Given the description of an element on the screen output the (x, y) to click on. 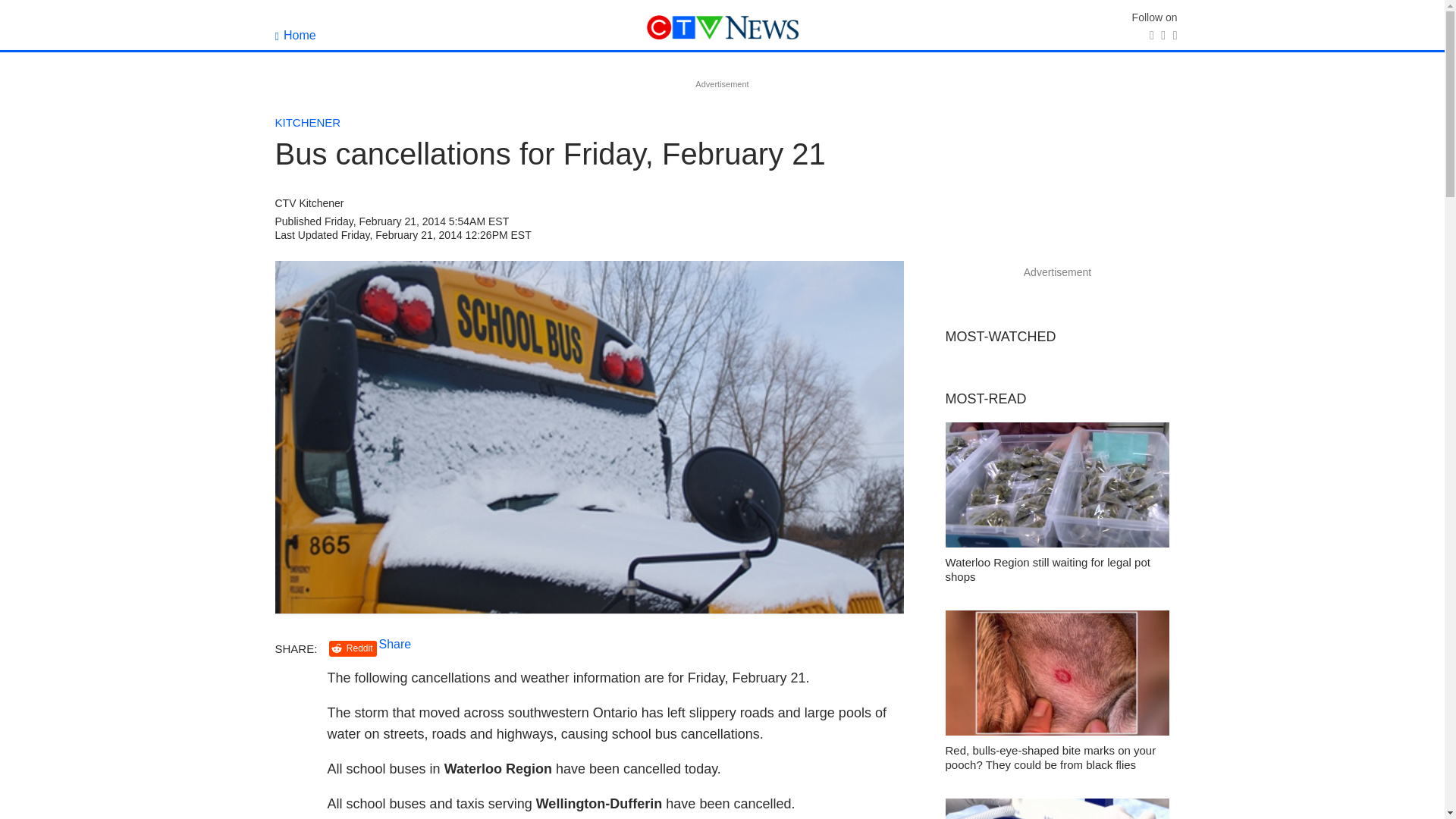
Home (295, 34)
Reddit (353, 648)
KITCHENER (307, 122)
Share (395, 644)
